Given the description of an element on the screen output the (x, y) to click on. 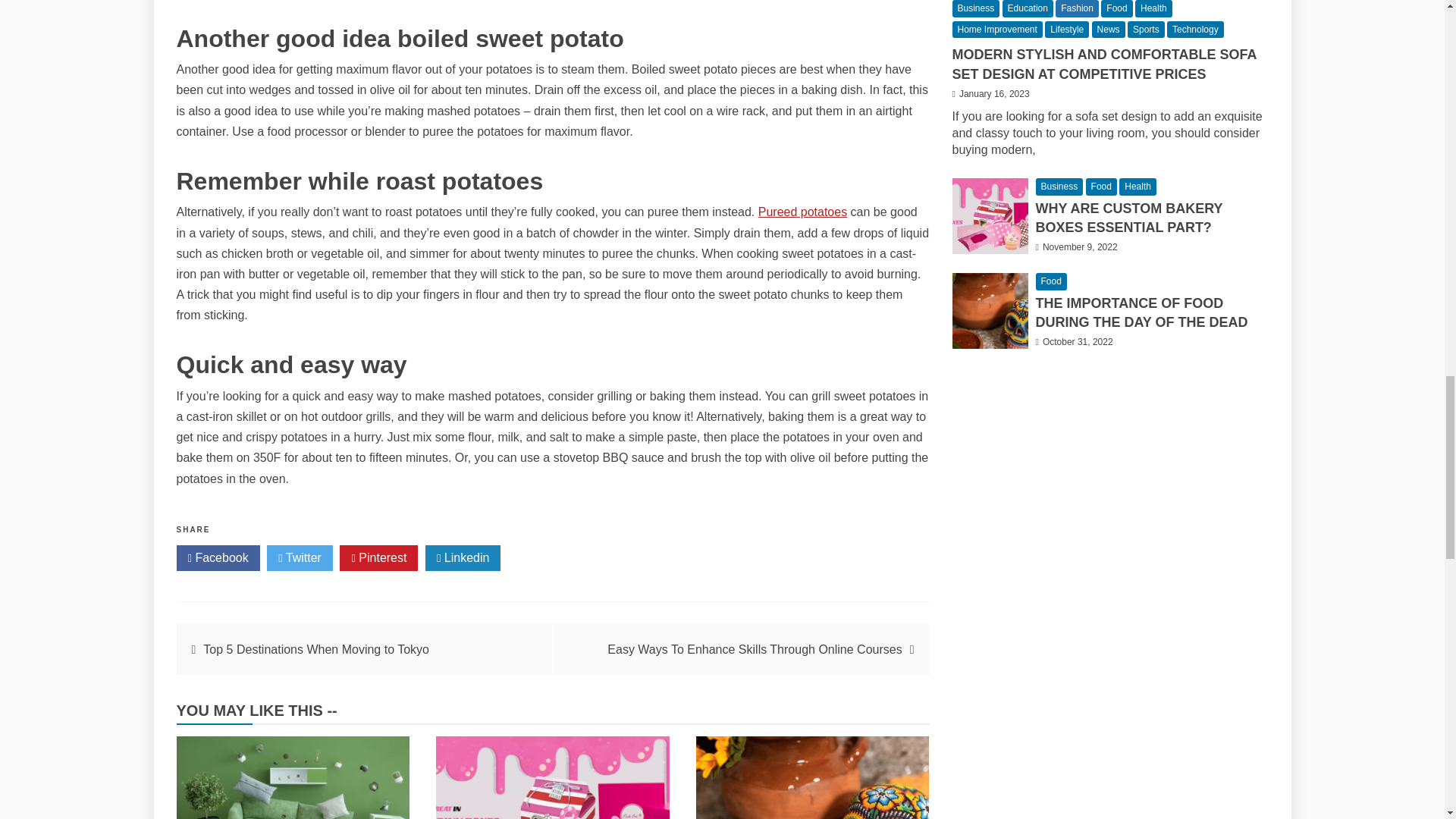
Twitter (299, 557)
Pureed potatoes (802, 211)
Easy Ways To Enhance Skills Through Online Courses (754, 649)
Linkedin (462, 557)
Top 5 Destinations When Moving to Tokyo (316, 649)
Pinterest (378, 557)
Facebook (217, 557)
